Given the description of an element on the screen output the (x, y) to click on. 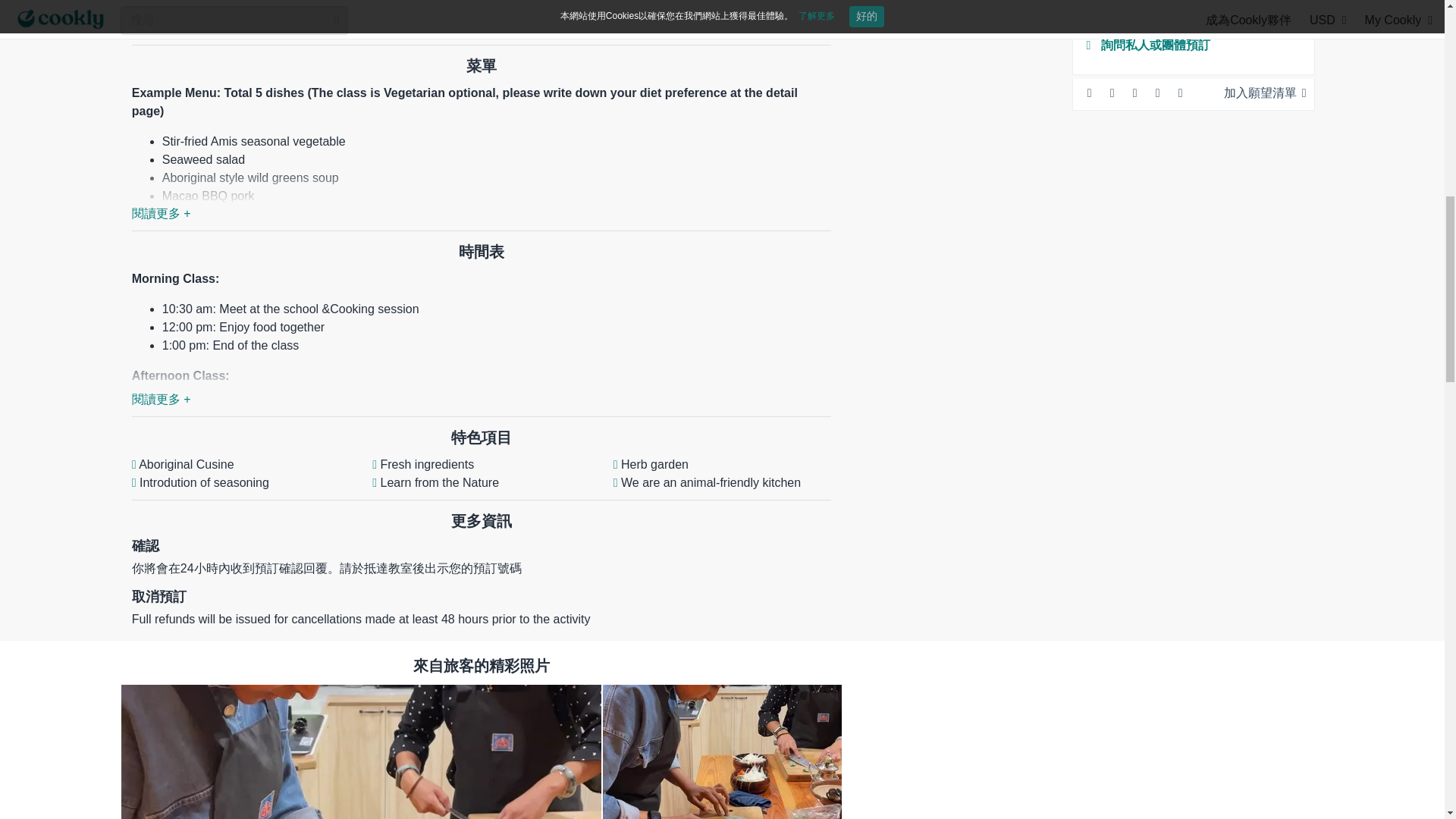
Prev (619, 190)
Monday (663, 218)
Next (848, 190)
Wednesday (737, 218)
Tuesday (700, 218)
Saturday (841, 218)
Sunday (624, 218)
Thursday (775, 218)
